Given the description of an element on the screen output the (x, y) to click on. 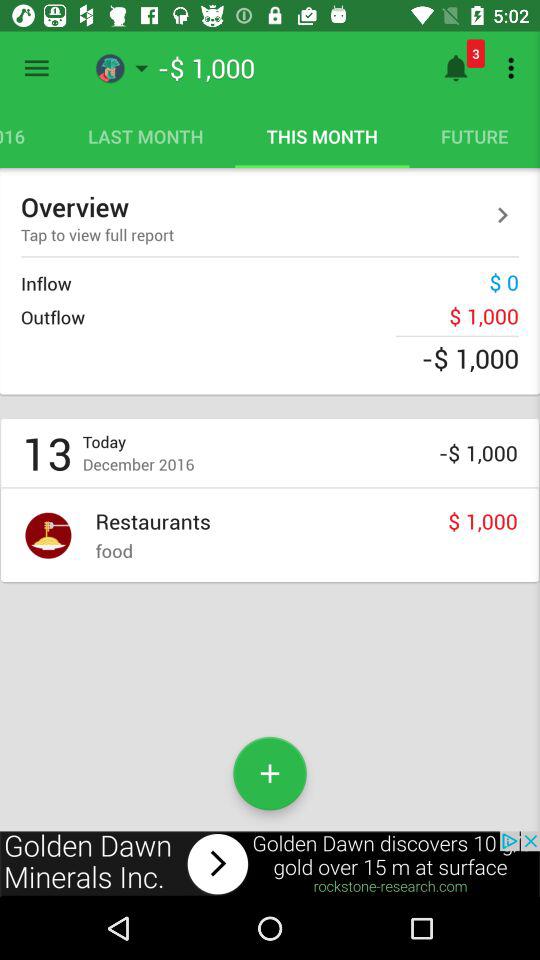
click next button (503, 215)
select the plus symbol in green color (269, 773)
select the button right to the menu bar (141, 67)
click on the plus symbol in green color (269, 773)
